Given the description of an element on the screen output the (x, y) to click on. 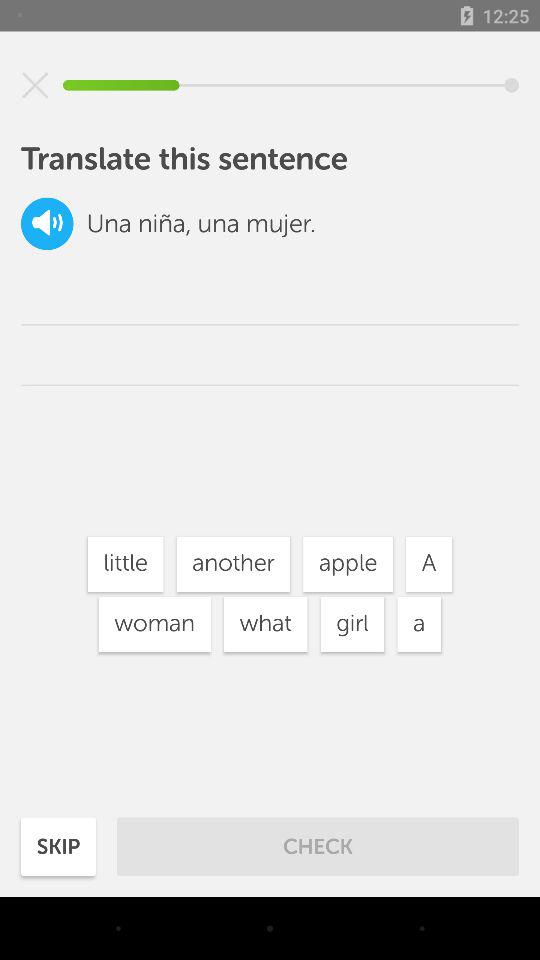
click icon to the left of check item (58, 846)
